Given the description of an element on the screen output the (x, y) to click on. 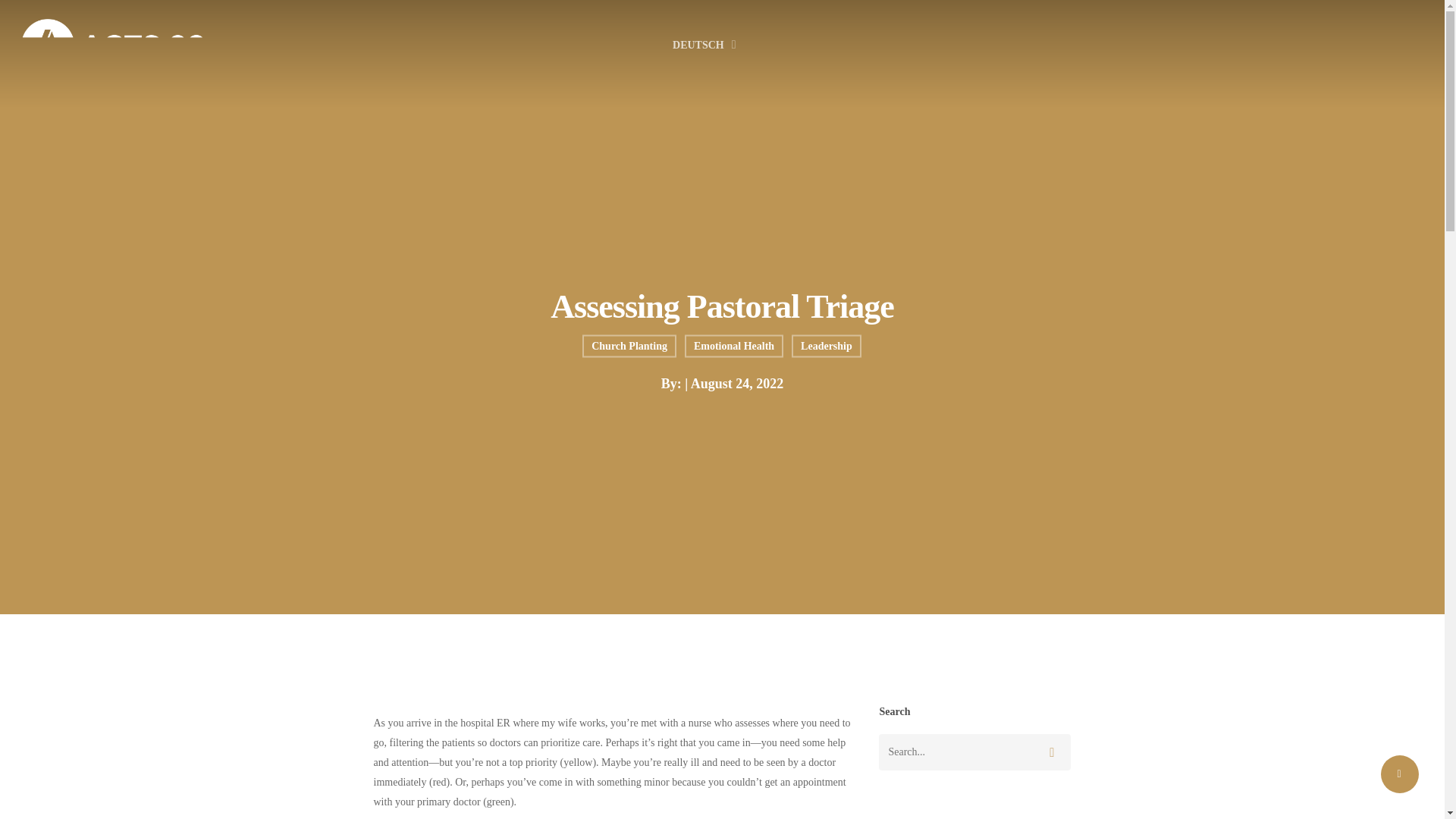
Deutsch (705, 44)
DEUTSCH (705, 44)
Emotional Health (733, 354)
Leadership (826, 353)
Church Planting (629, 355)
Search for: (974, 751)
